Given the description of an element on the screen output the (x, y) to click on. 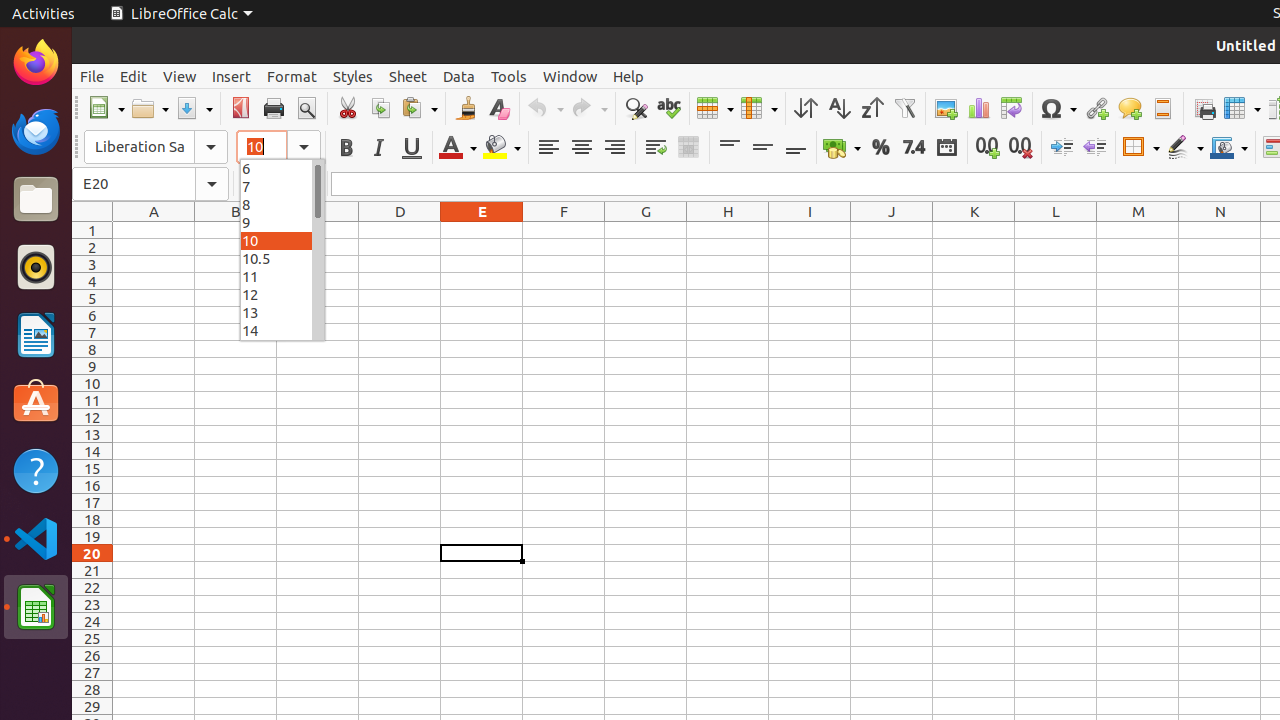
Print Preview Element type: toggle-button (306, 108)
Delete Decimal Place Element type: push-button (1020, 147)
